Given the description of an element on the screen output the (x, y) to click on. 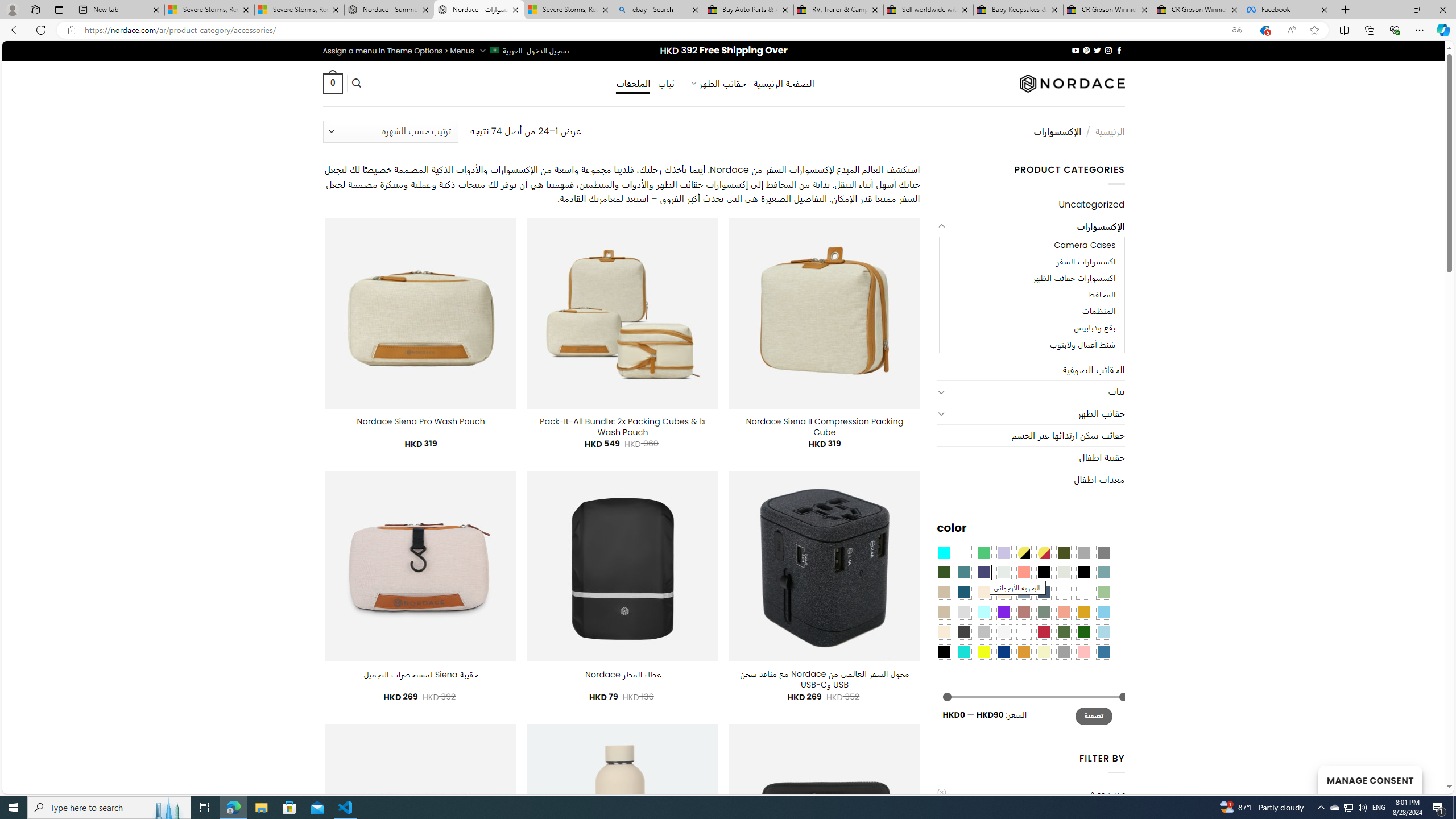
MANAGE CONSENT (1369, 779)
Forest (944, 572)
Nordace Siena Pro Wash Pouch (420, 421)
Light-Gray (963, 611)
